Given the description of an element on the screen output the (x, y) to click on. 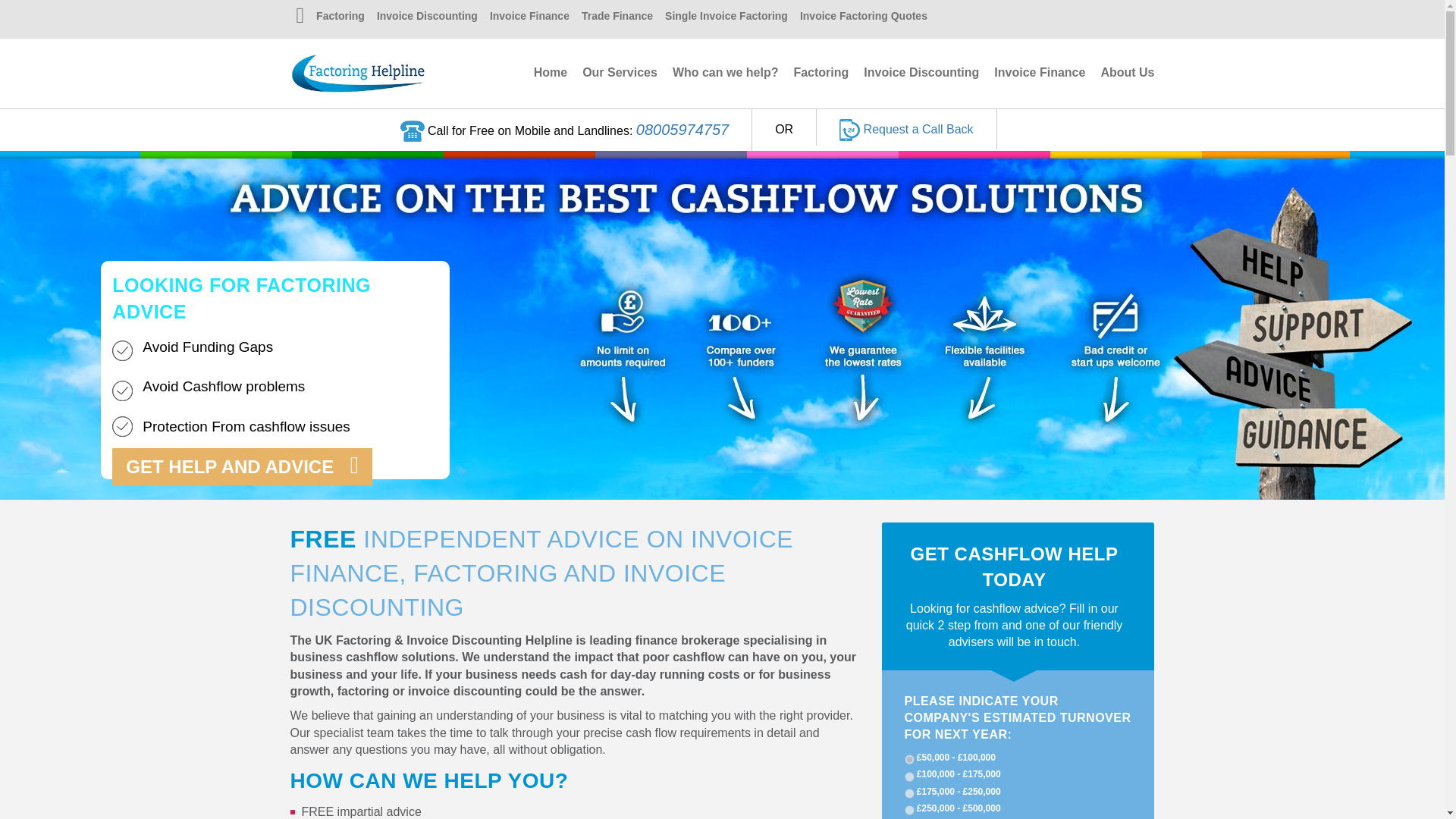
Invoice Factoring Quotes (863, 16)
Factoring (820, 72)
2 (909, 777)
Our Services (620, 72)
Single Invoice Factoring (726, 16)
Factoring (340, 16)
Invoice Discounting (427, 16)
Who can we help? (725, 72)
Invoice Finance (529, 16)
Trade Finance (616, 16)
